Given the description of an element on the screen output the (x, y) to click on. 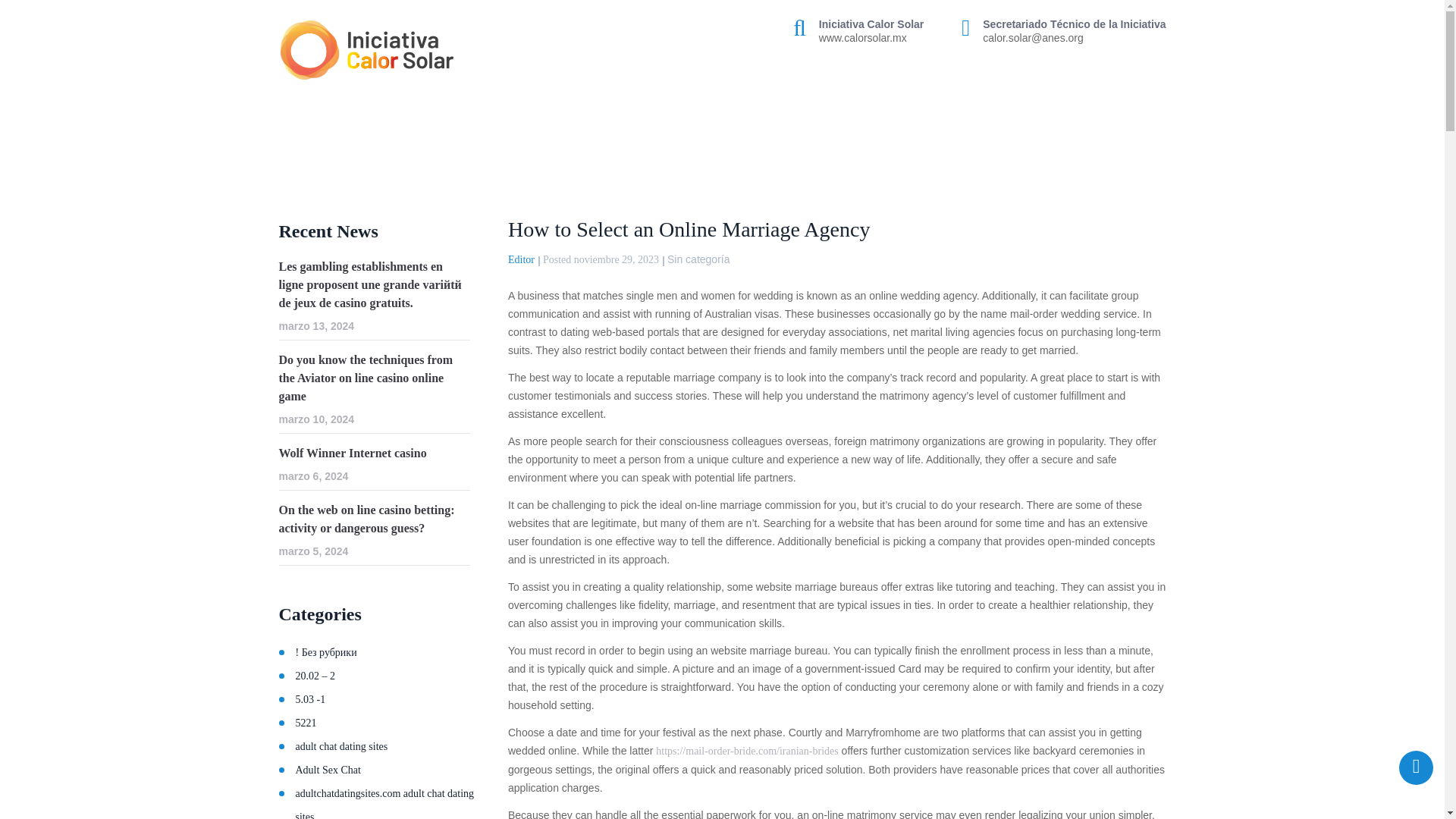
RECURSOS MULTIMEDIA (1086, 101)
Editor (521, 259)
NOTICIAS (965, 101)
Home (294, 147)
Posted noviembre 29, 2023 (601, 259)
LOGIN (1142, 147)
CALOR SOLAR (584, 101)
Calor Solar (366, 49)
CAPITAL HUMANO (860, 101)
ACERCA DE LA INICIAITVA (450, 101)
Wolf Winner Internet casino (374, 453)
Calor Solar (294, 147)
View all posts by editor (521, 259)
